Given the description of an element on the screen output the (x, y) to click on. 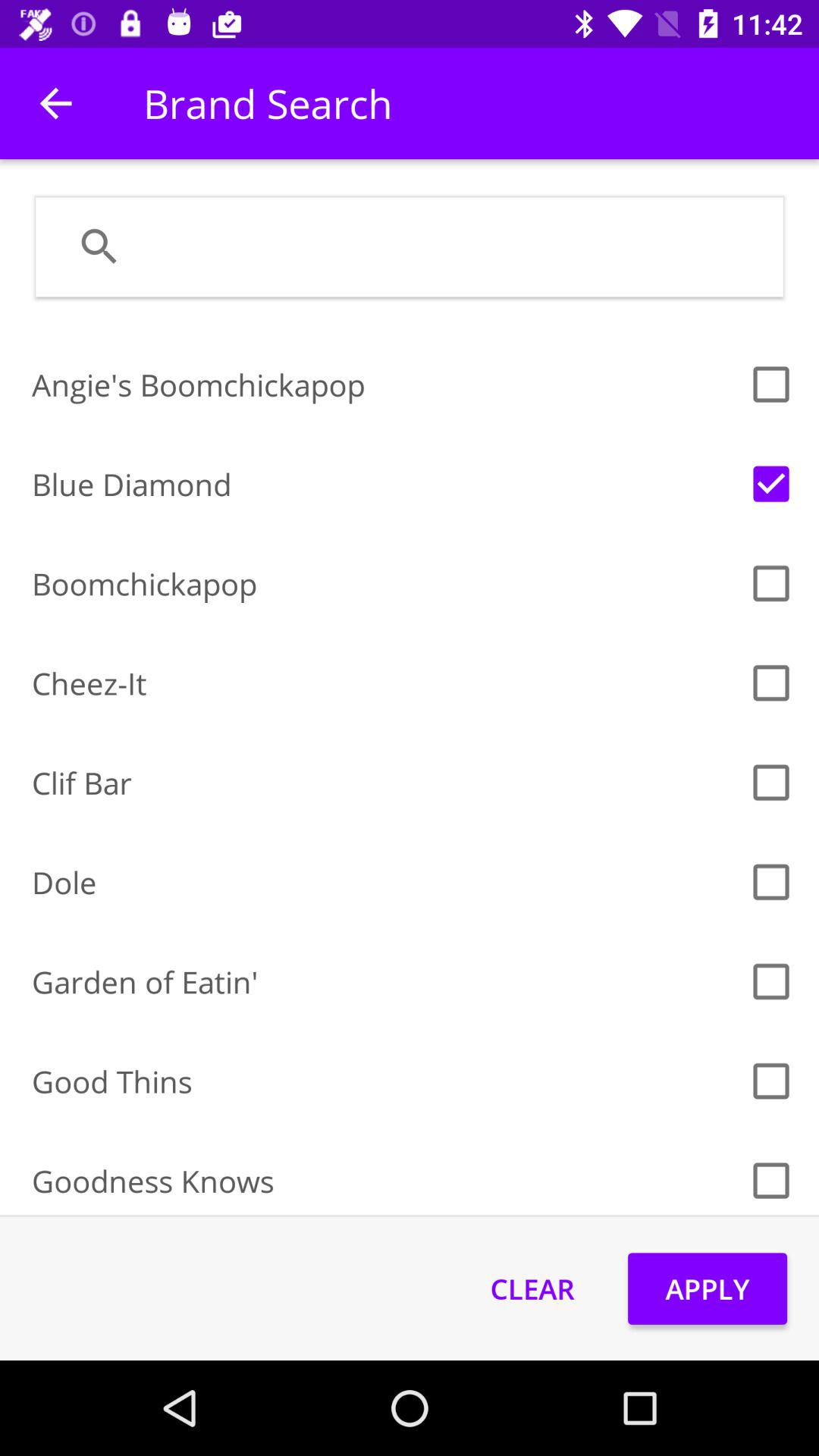
turn off garden of eatin' item (385, 981)
